Given the description of an element on the screen output the (x, y) to click on. 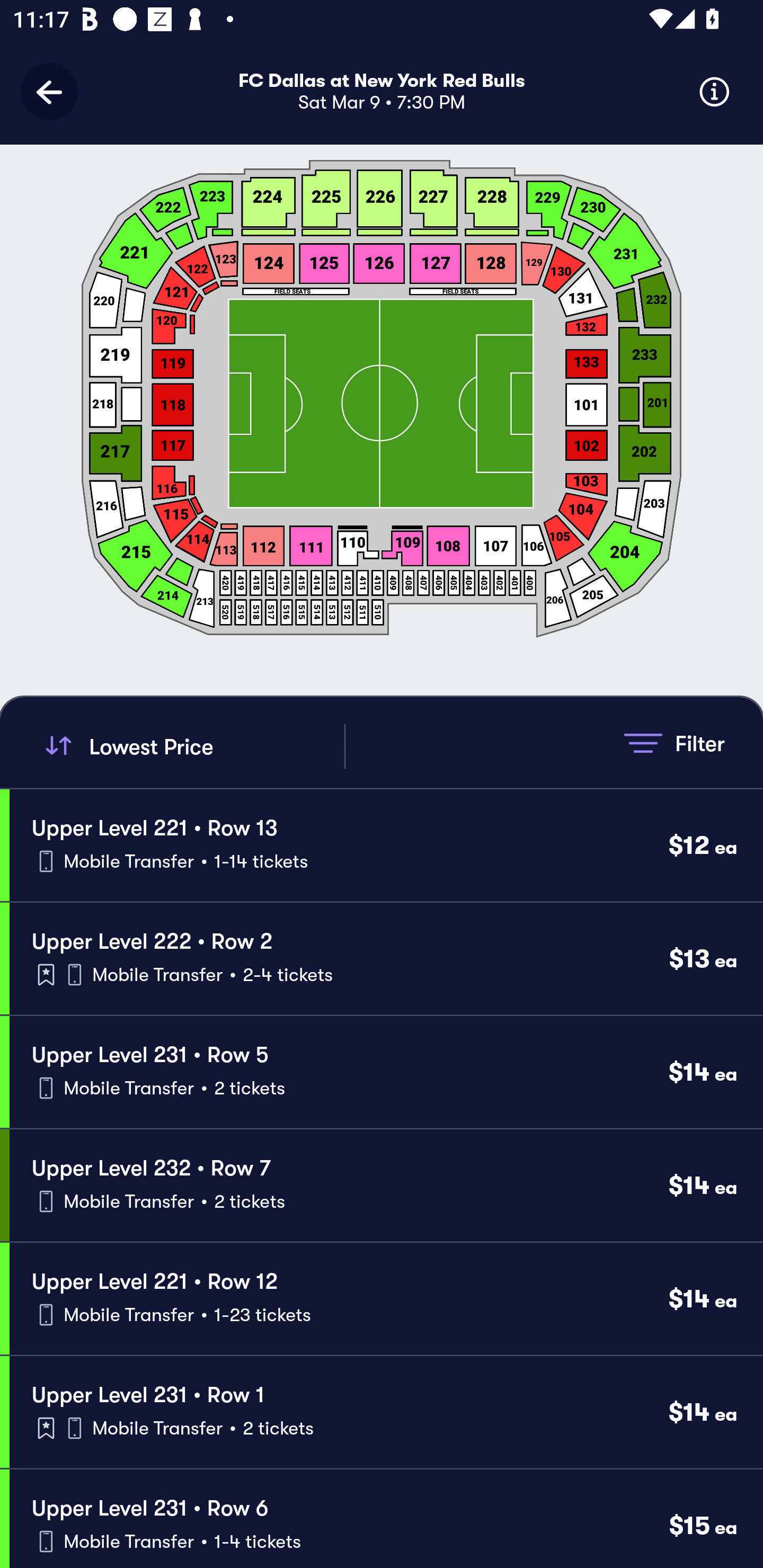
Lowest Price (191, 746)
Filter (674, 743)
